Given the description of an element on the screen output the (x, y) to click on. 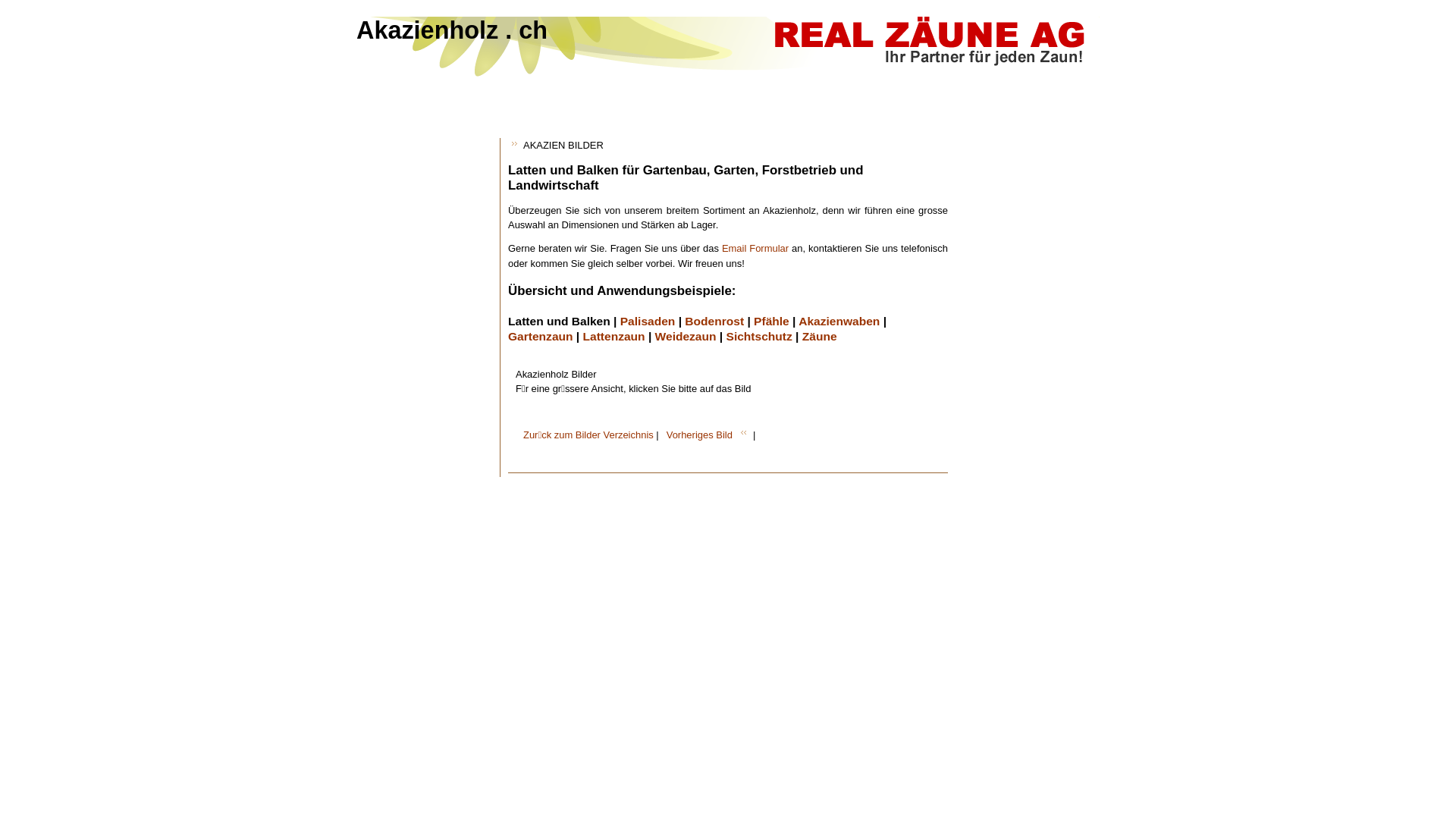
Bodenrost Element type: text (713, 320)
Gartenzaun Element type: text (540, 335)
Palisaden Element type: text (647, 320)
Weidezaun Element type: text (685, 335)
Sichtschutz Element type: text (759, 335)
Vorheriges Bild Element type: text (699, 434)
Akazienwaben Element type: text (838, 320)
Lattenzaun Element type: text (614, 335)
Email Formular Element type: text (754, 248)
